Given the description of an element on the screen output the (x, y) to click on. 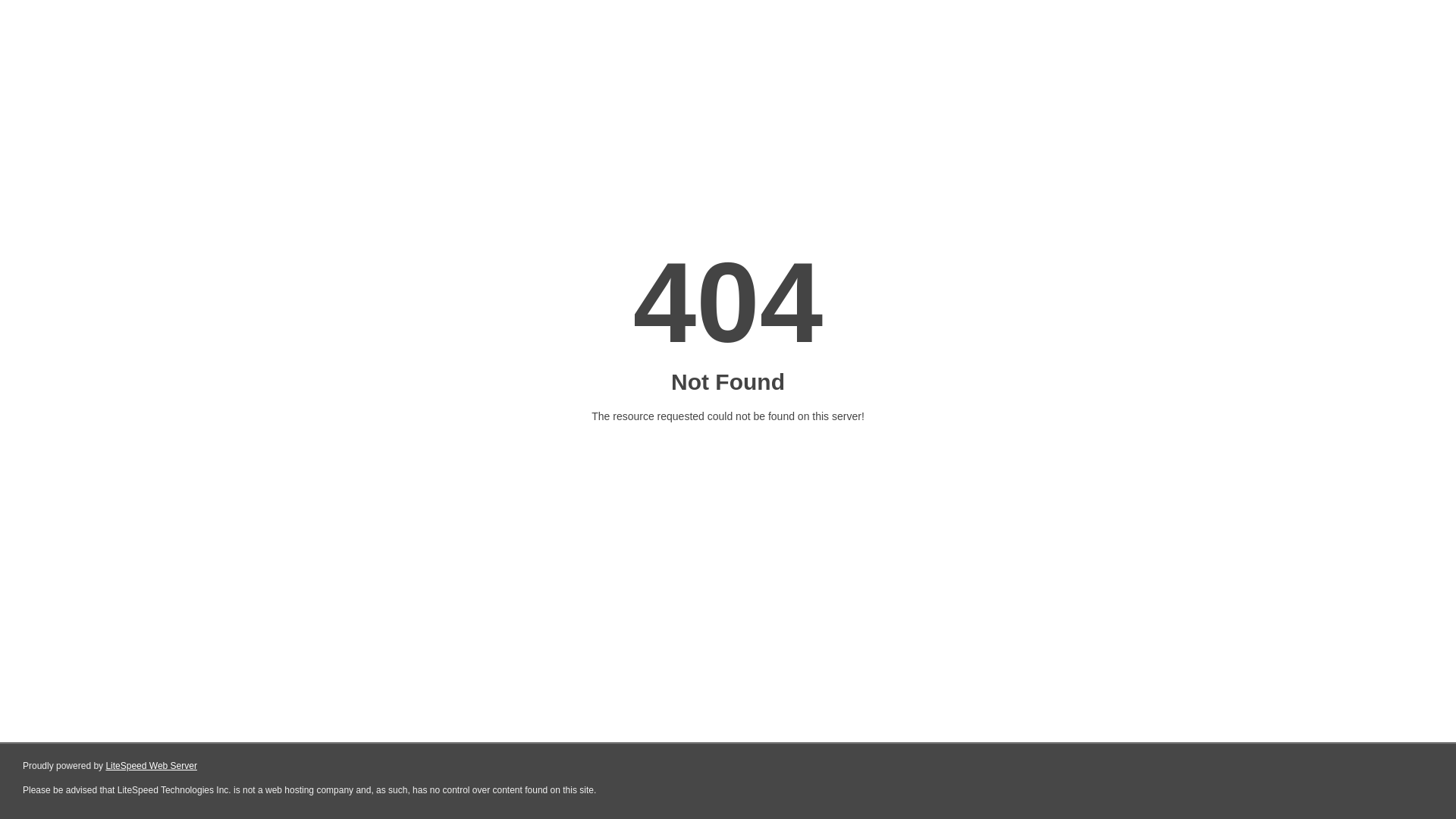
LiteSpeed Web Server Element type: text (151, 765)
